Given the description of an element on the screen output the (x, y) to click on. 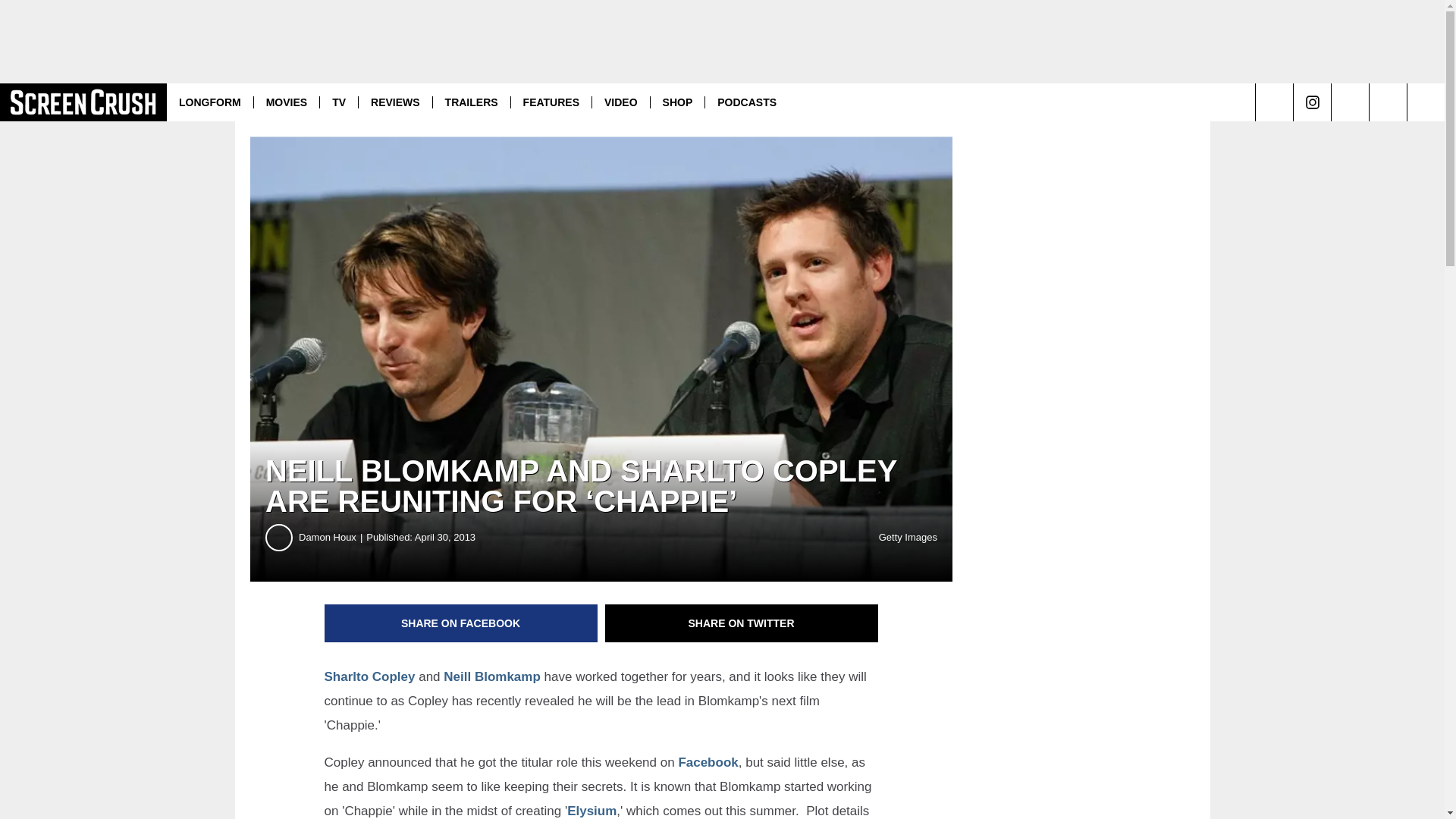
FEATURES (551, 102)
PODCASTS (746, 102)
REVIEWS (395, 102)
Neill Blomkamp (492, 676)
MOVIES (285, 102)
SHOP (676, 102)
SHARE ON FACEBOOK (460, 623)
Facebook (708, 762)
Visit us on Instagram (1312, 102)
LONGFORM (210, 102)
